Given the description of an element on the screen output the (x, y) to click on. 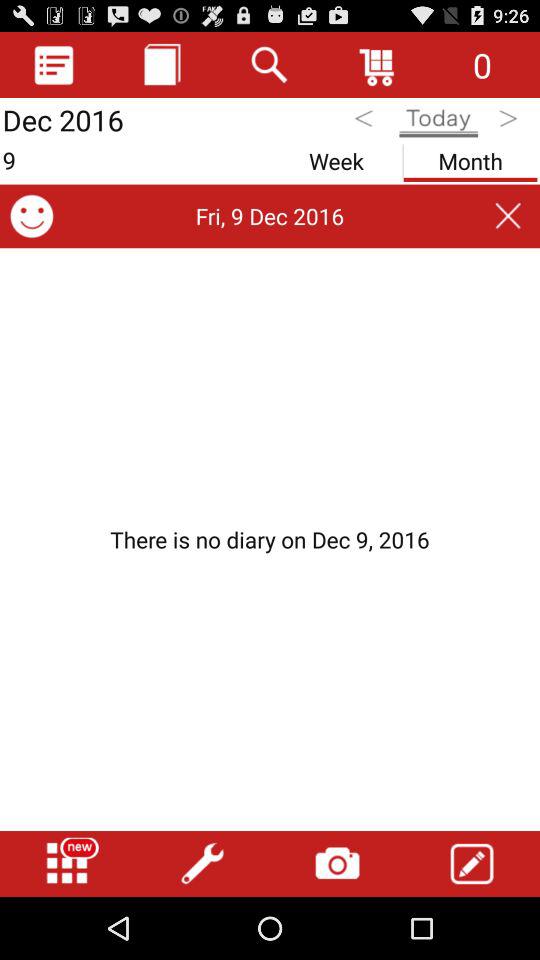
open camera (337, 863)
